Given the description of an element on the screen output the (x, y) to click on. 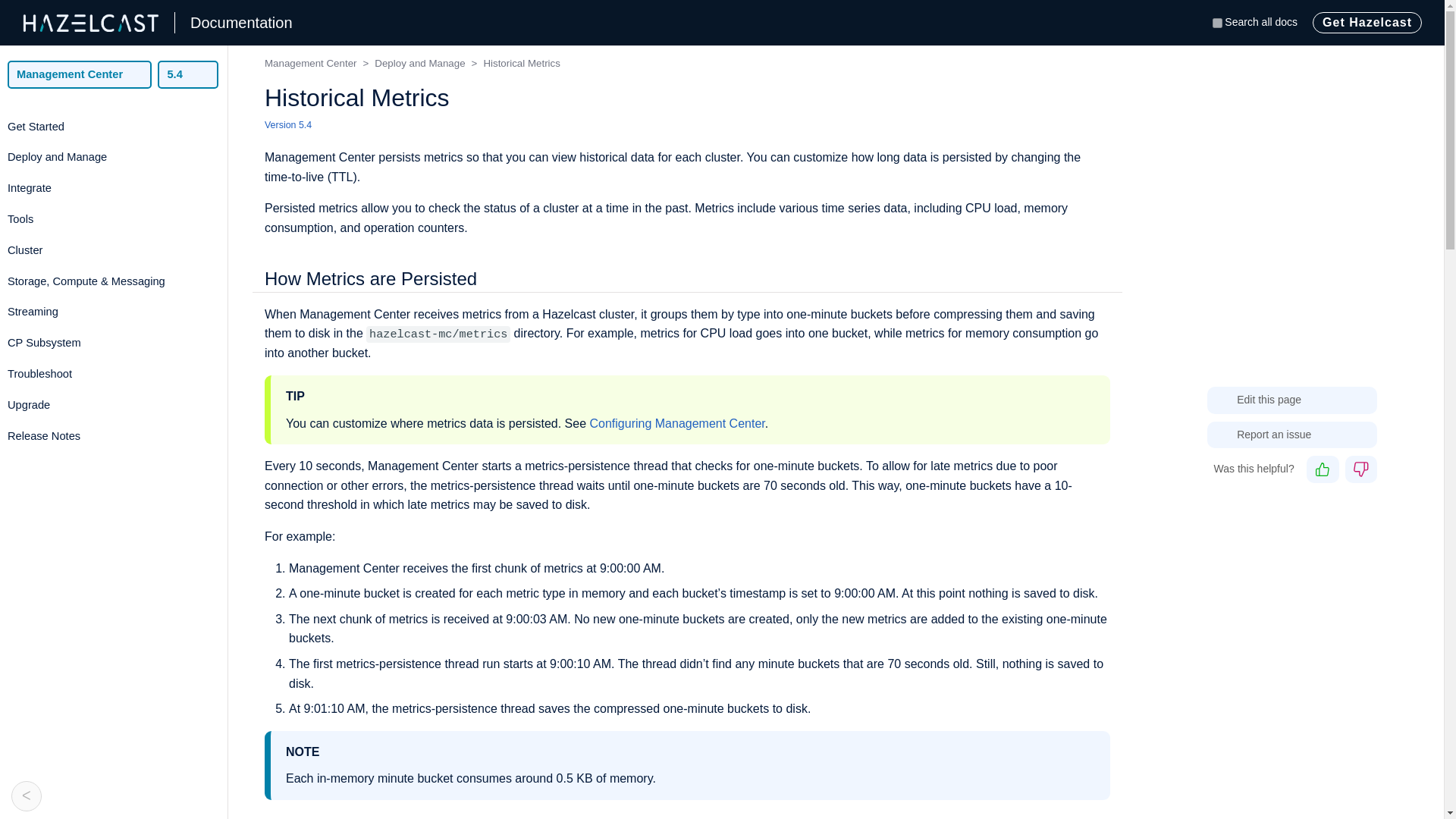
5.4 (187, 74)
Management Center (79, 74)
5.4 (187, 74)
Get Hazelcast (1367, 22)
Show other versions of page (297, 124)
Management Center (79, 74)
on (1217, 22)
Get Hazelcast (1367, 22)
